Given the description of an element on the screen output the (x, y) to click on. 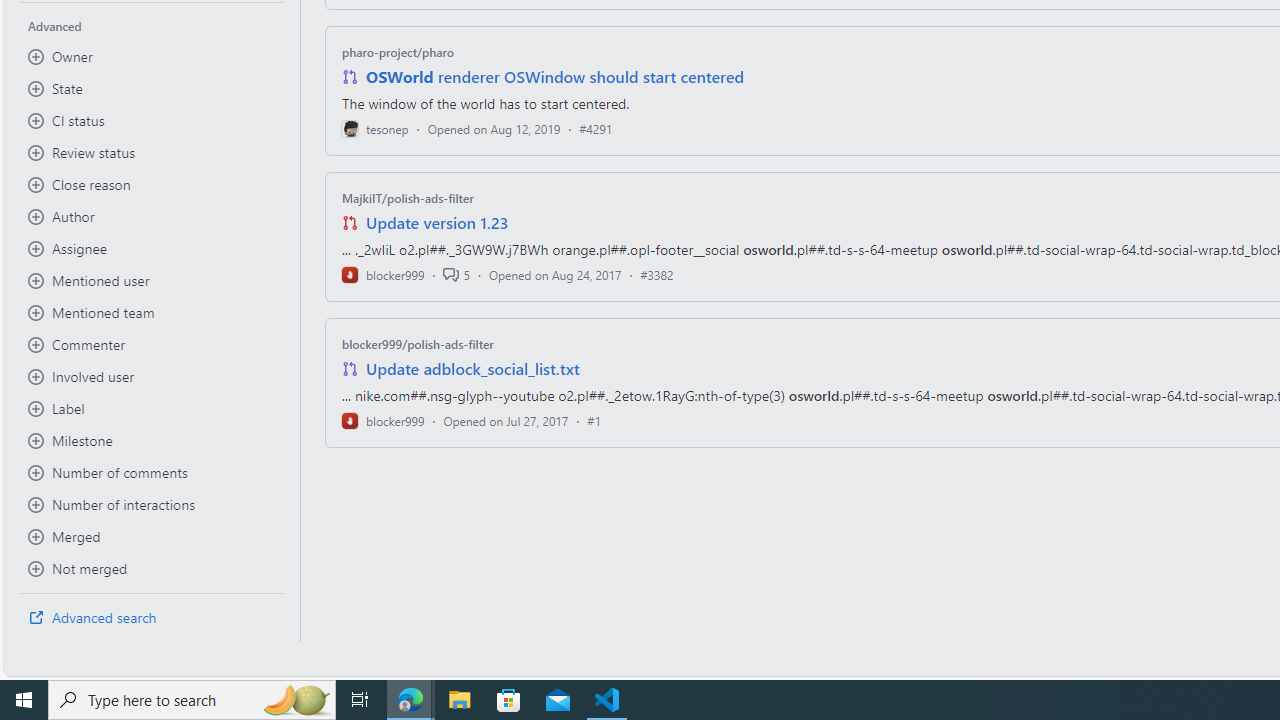
Advanced search (152, 617)
blocker999/polish-ads-filter (417, 343)
tesonep (375, 128)
#4291 (595, 128)
Update version 1.23 (437, 222)
